Given the description of an element on the screen output the (x, y) to click on. 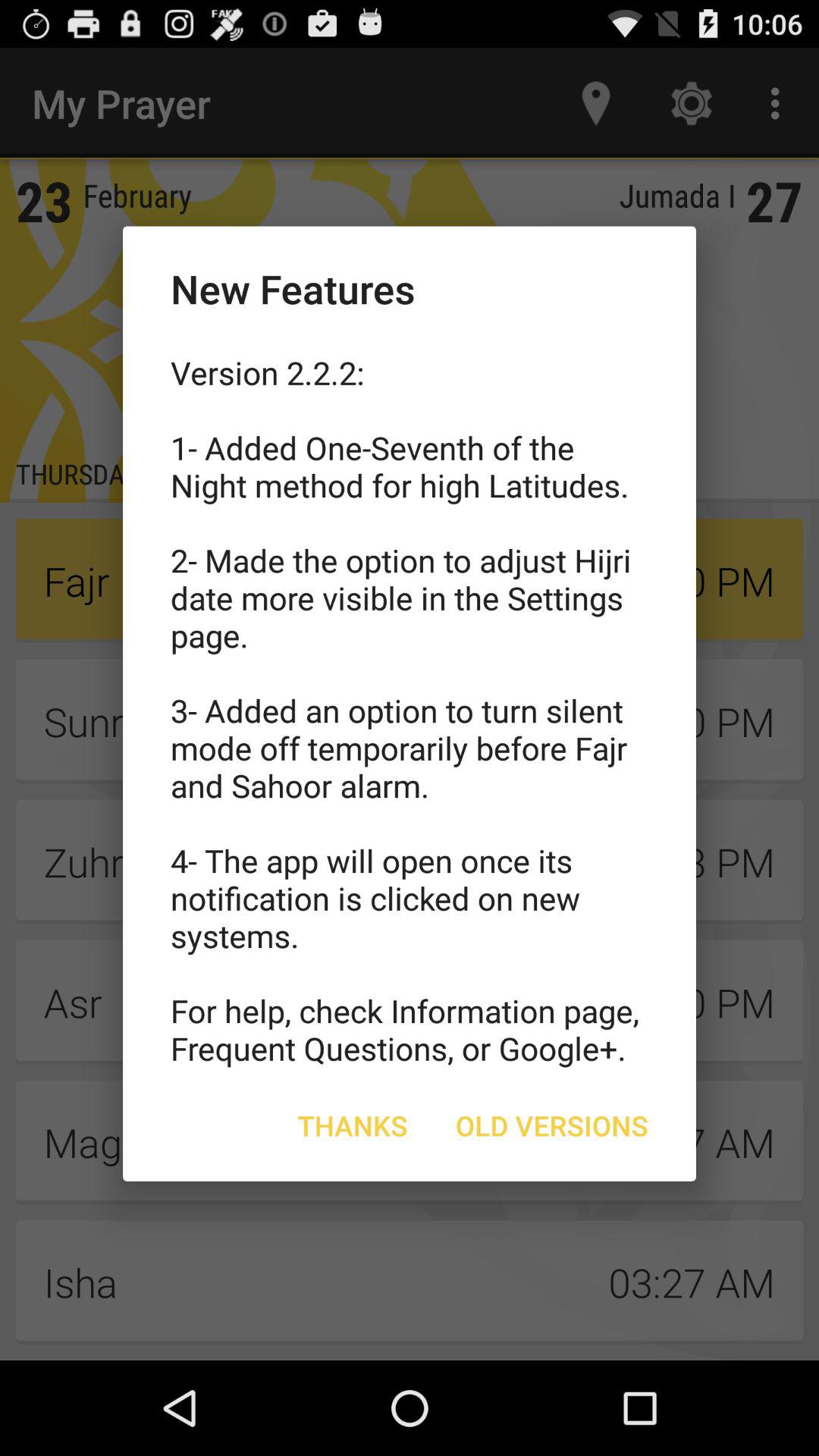
click icon next to thanks button (551, 1125)
